Given the description of an element on the screen output the (x, y) to click on. 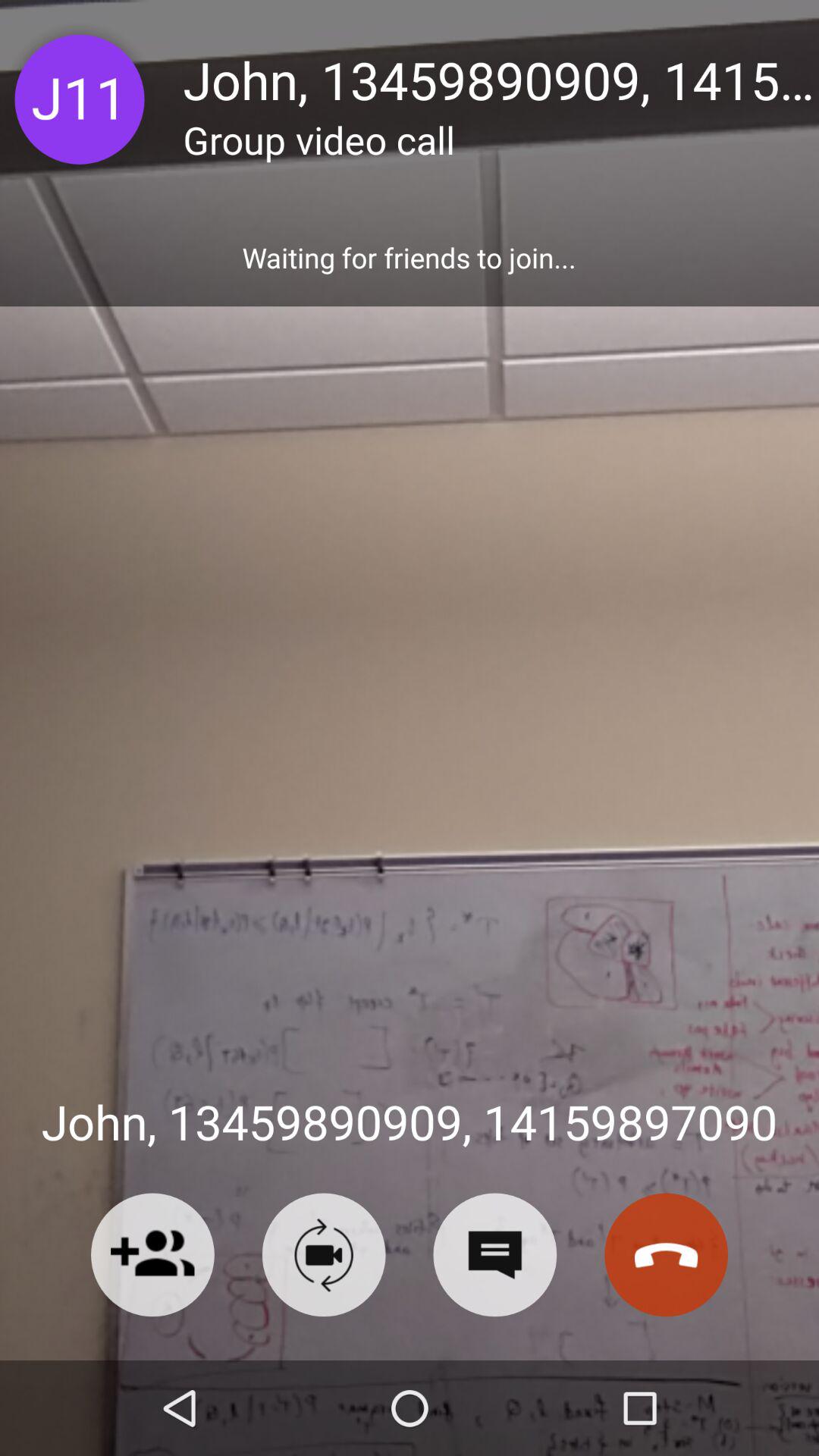
send comment (494, 1254)
